Given the description of an element on the screen output the (x, y) to click on. 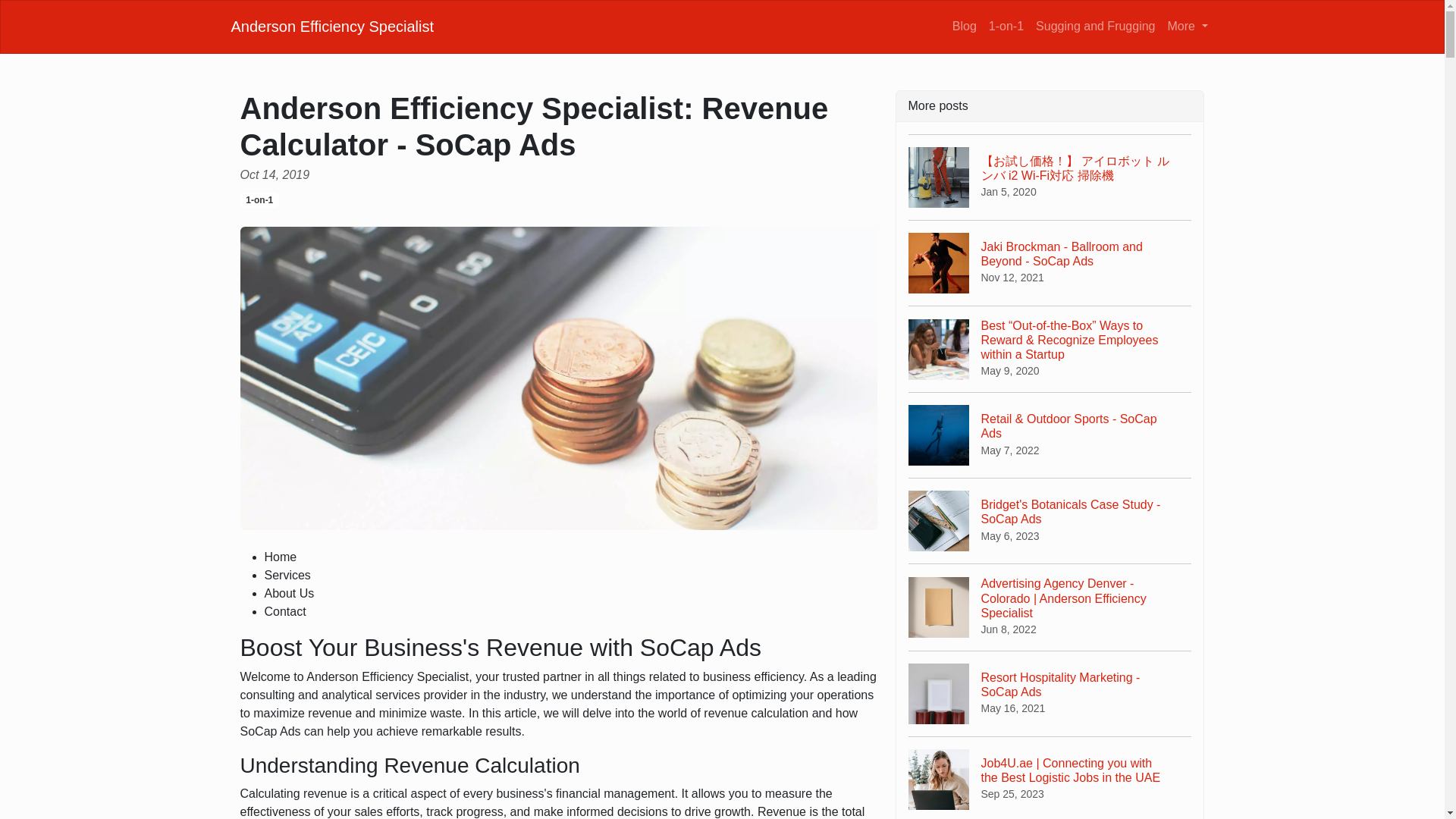
Blog (1050, 693)
1-on-1 (1050, 262)
Anderson Efficiency Specialist (1050, 520)
More (964, 26)
1-on-1 (259, 200)
Sugging and Frugging (331, 26)
